Given the description of an element on the screen output the (x, y) to click on. 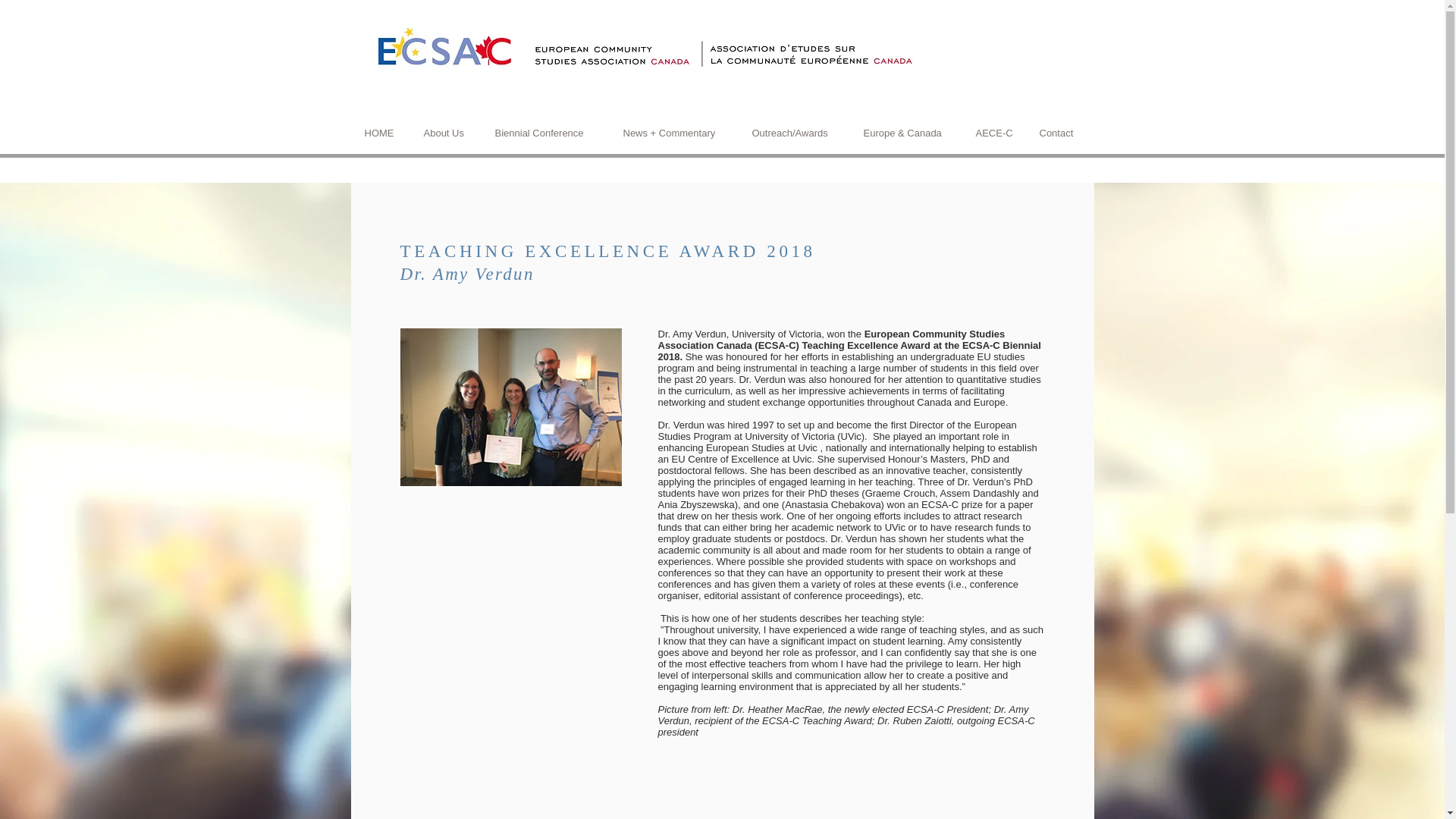
HOME (382, 132)
